Given the description of an element on the screen output the (x, y) to click on. 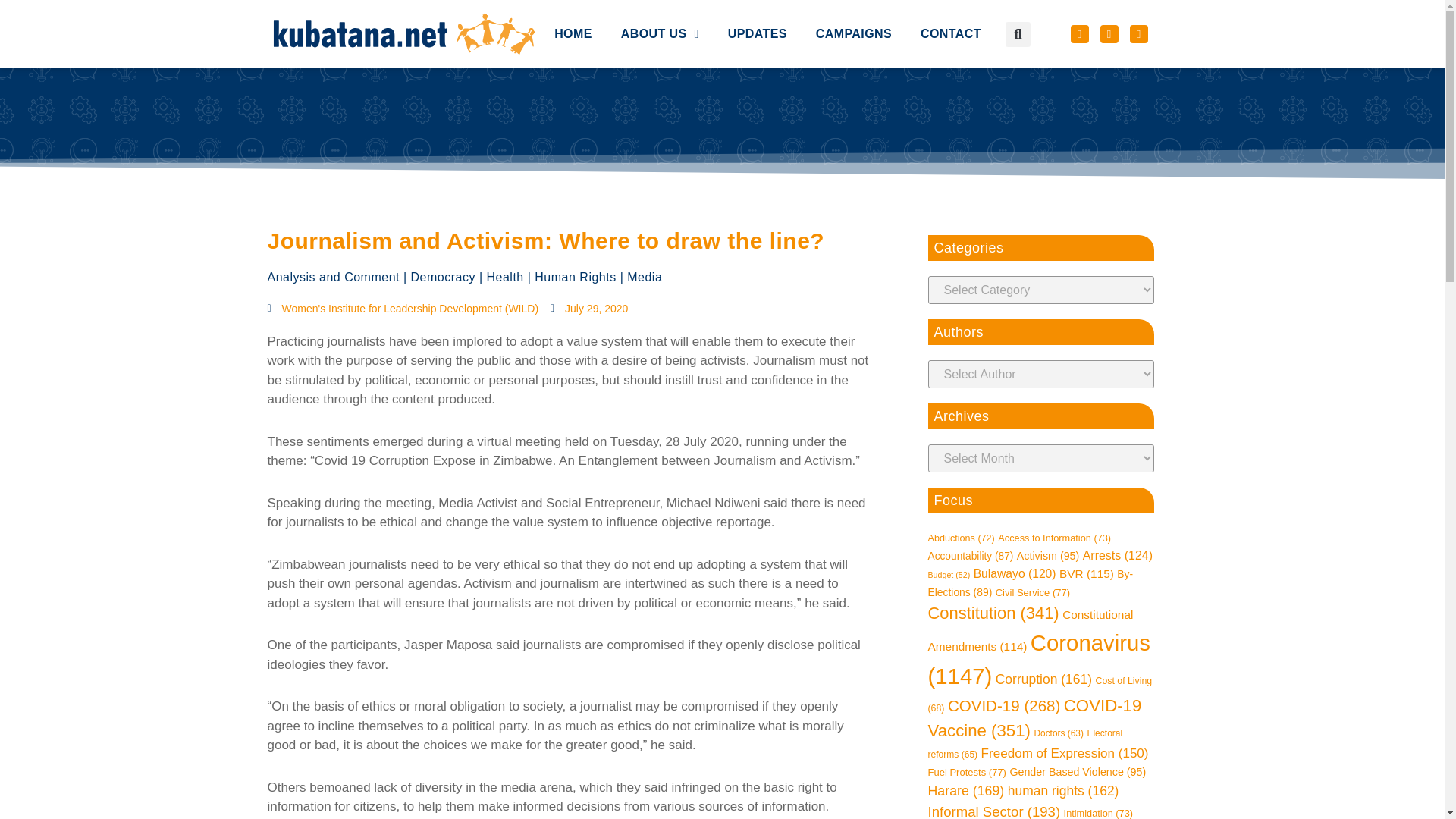
UPDATES (756, 4)
CAMPAIGNS (853, 5)
Democracy (443, 277)
Health (505, 277)
CONTACT (950, 7)
Analysis and Comment (332, 277)
